Given the description of an element on the screen output the (x, y) to click on. 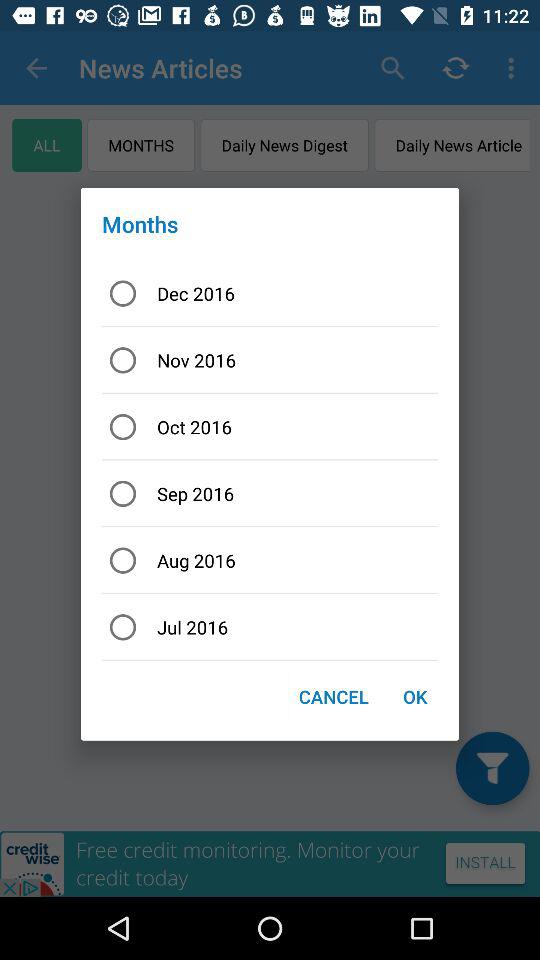
turn off icon below jul 2016 (333, 696)
